Given the description of an element on the screen output the (x, y) to click on. 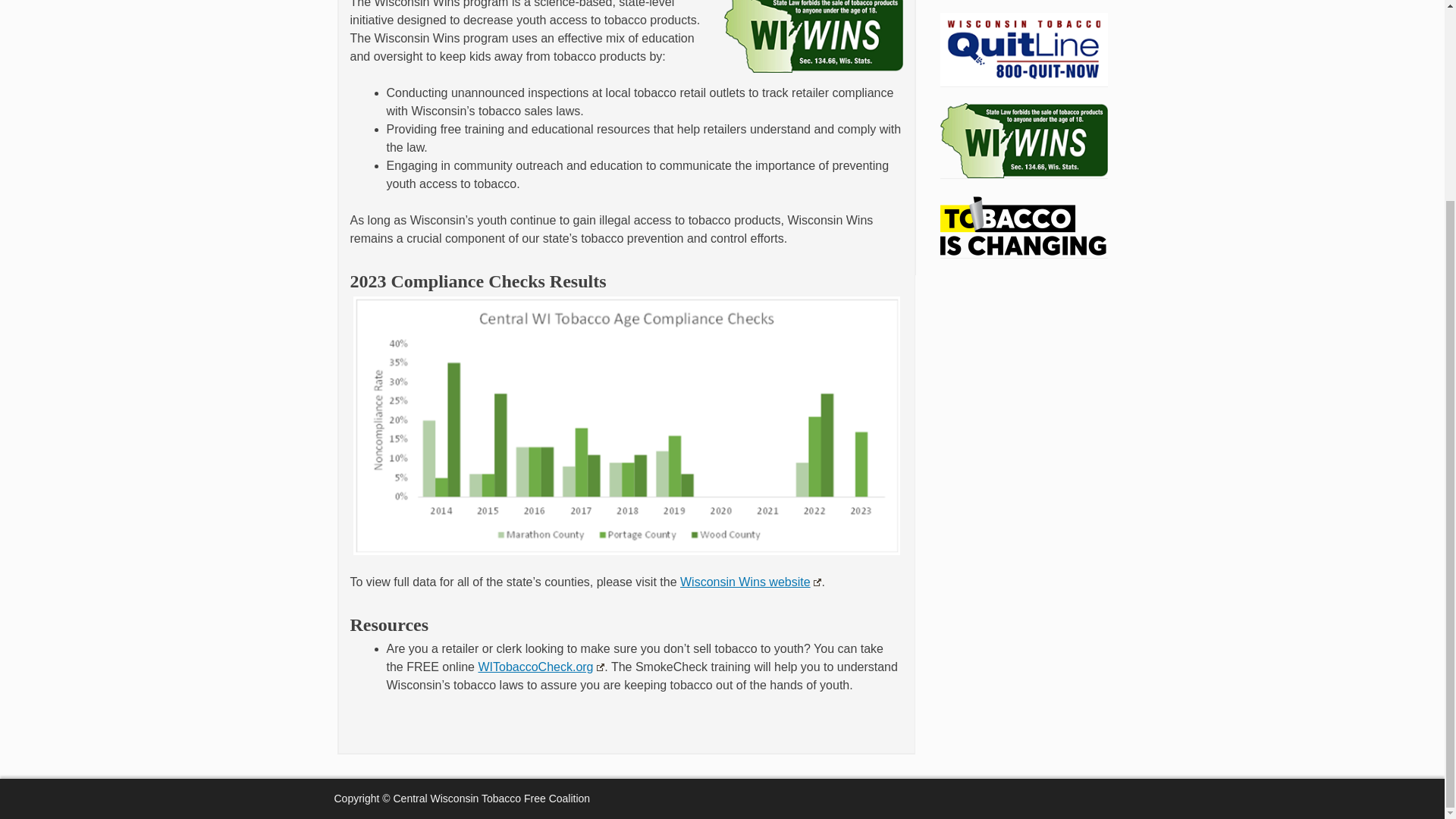
WITobaccoCheck.org (540, 666)
Wisconsin Wins website (750, 581)
